Given the description of an element on the screen output the (x, y) to click on. 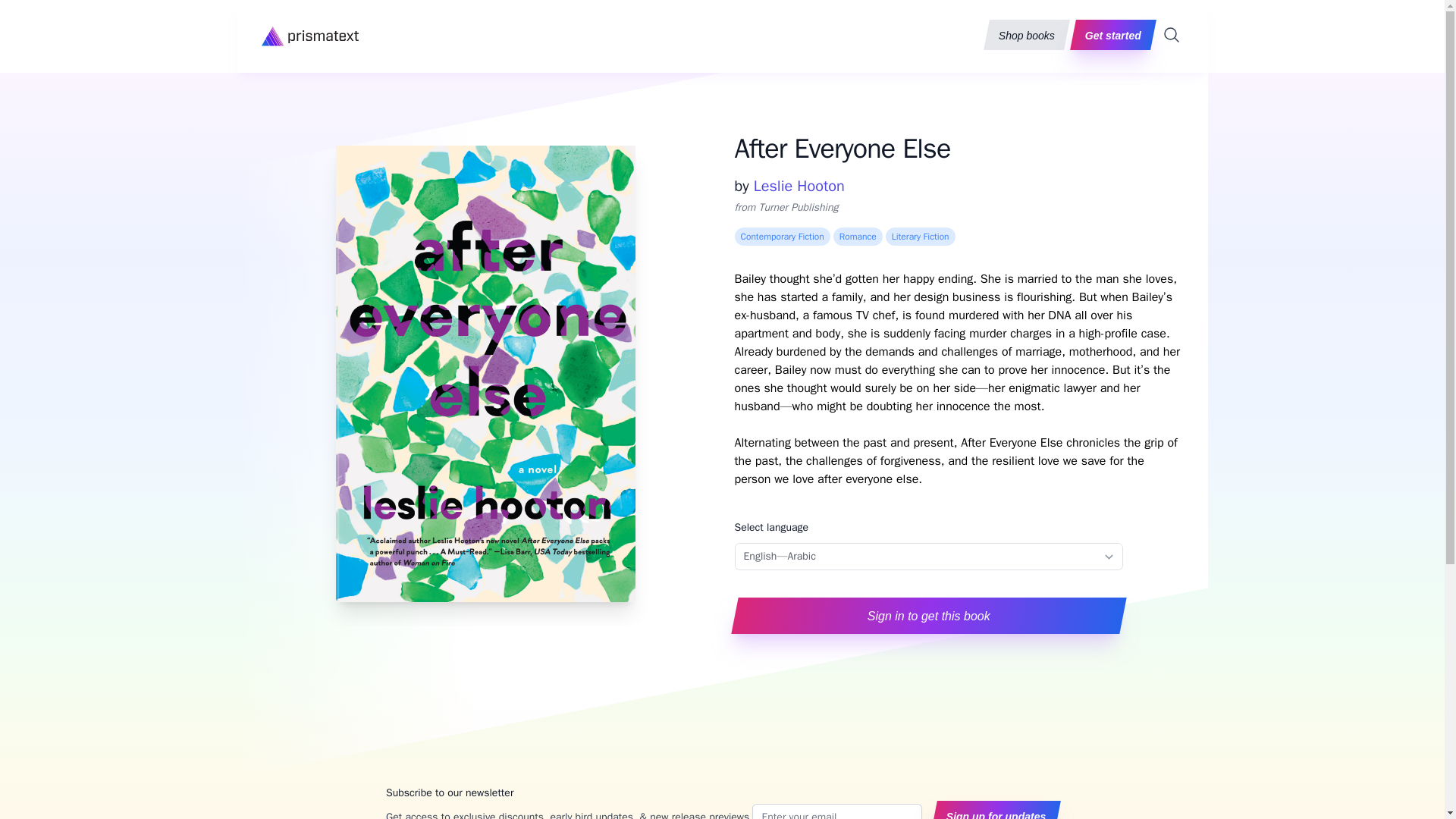
Sign up for updates (993, 809)
Shop books (1024, 34)
Contemporary Fiction (781, 236)
Sign in to get this book (924, 615)
Search (1170, 34)
Leslie Hooton (799, 185)
Literary Fiction (920, 236)
Romance (857, 236)
Get started (1110, 34)
